Given the description of an element on the screen output the (x, y) to click on. 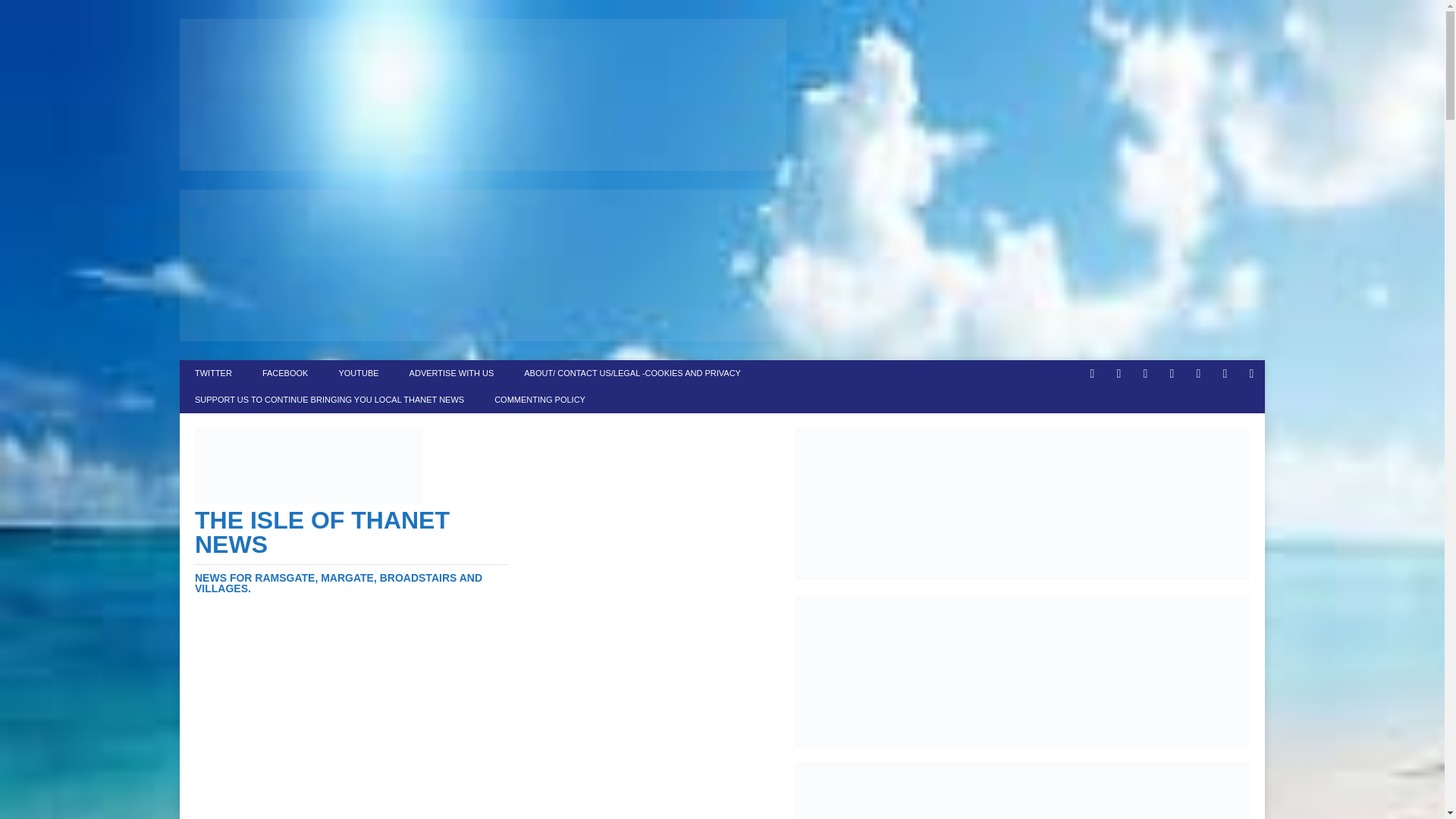
The Isle Of Thanet News (351, 550)
YOUTUBE (358, 373)
TWITTER (213, 373)
COMMENTING POLICY (539, 399)
SUPPORT US TO CONTINUE BRINGING YOU LOCAL THANET NEWS (329, 399)
FACEBOOK (285, 373)
ADVERTISE WITH US (451, 373)
